Given the description of an element on the screen output the (x, y) to click on. 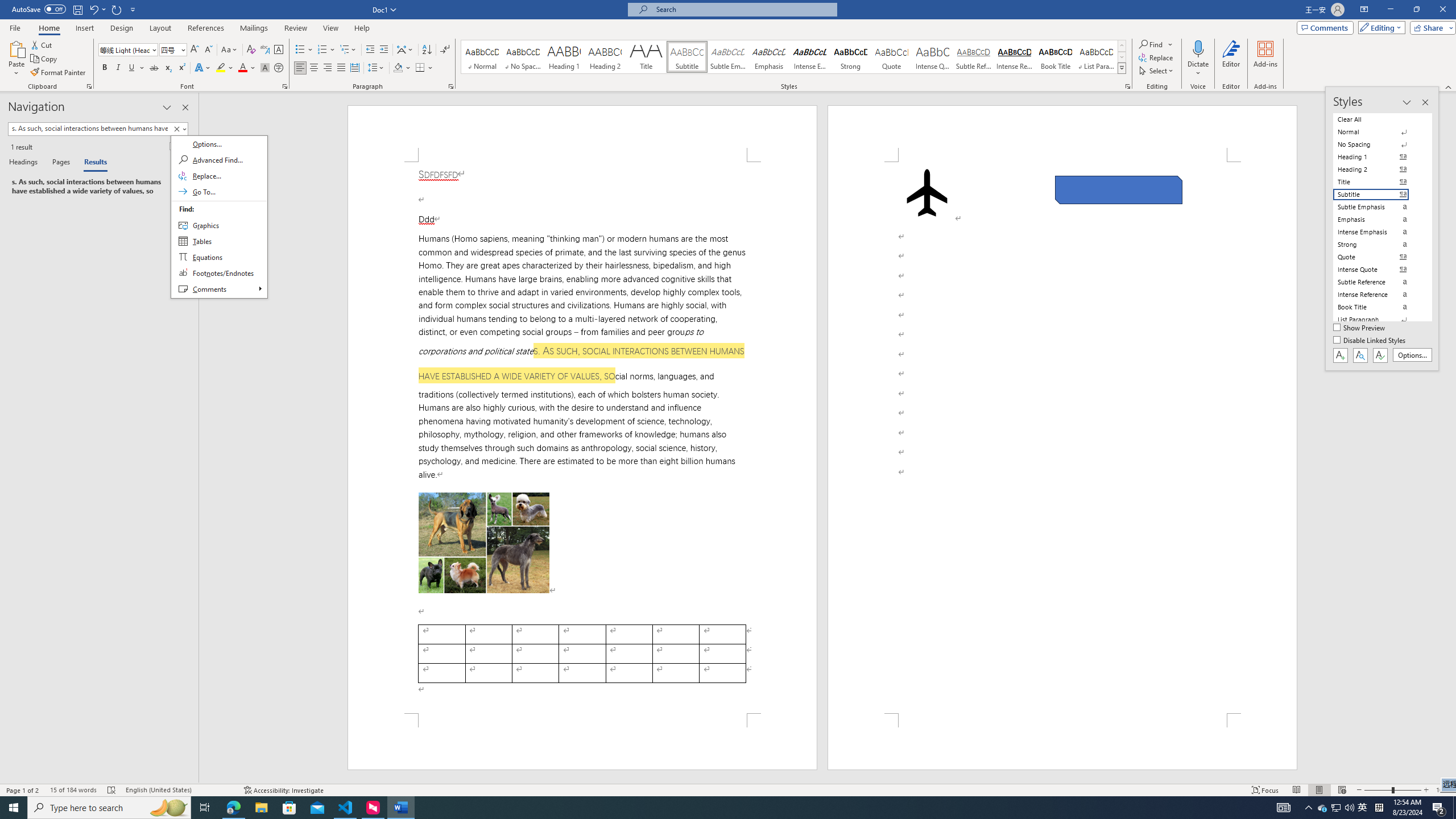
Disable Linked Styles (1370, 340)
Asian Layout (405, 49)
Headings (25, 162)
User Promoted Notification Area (1336, 807)
Subtle Emphasis (727, 56)
Rectangle: Diagonal Corners Snipped 2 (1118, 189)
Text Effects and Typography (202, 67)
Airplane with solid fill (926, 192)
Office Clipboard... (88, 85)
